Given the description of an element on the screen output the (x, y) to click on. 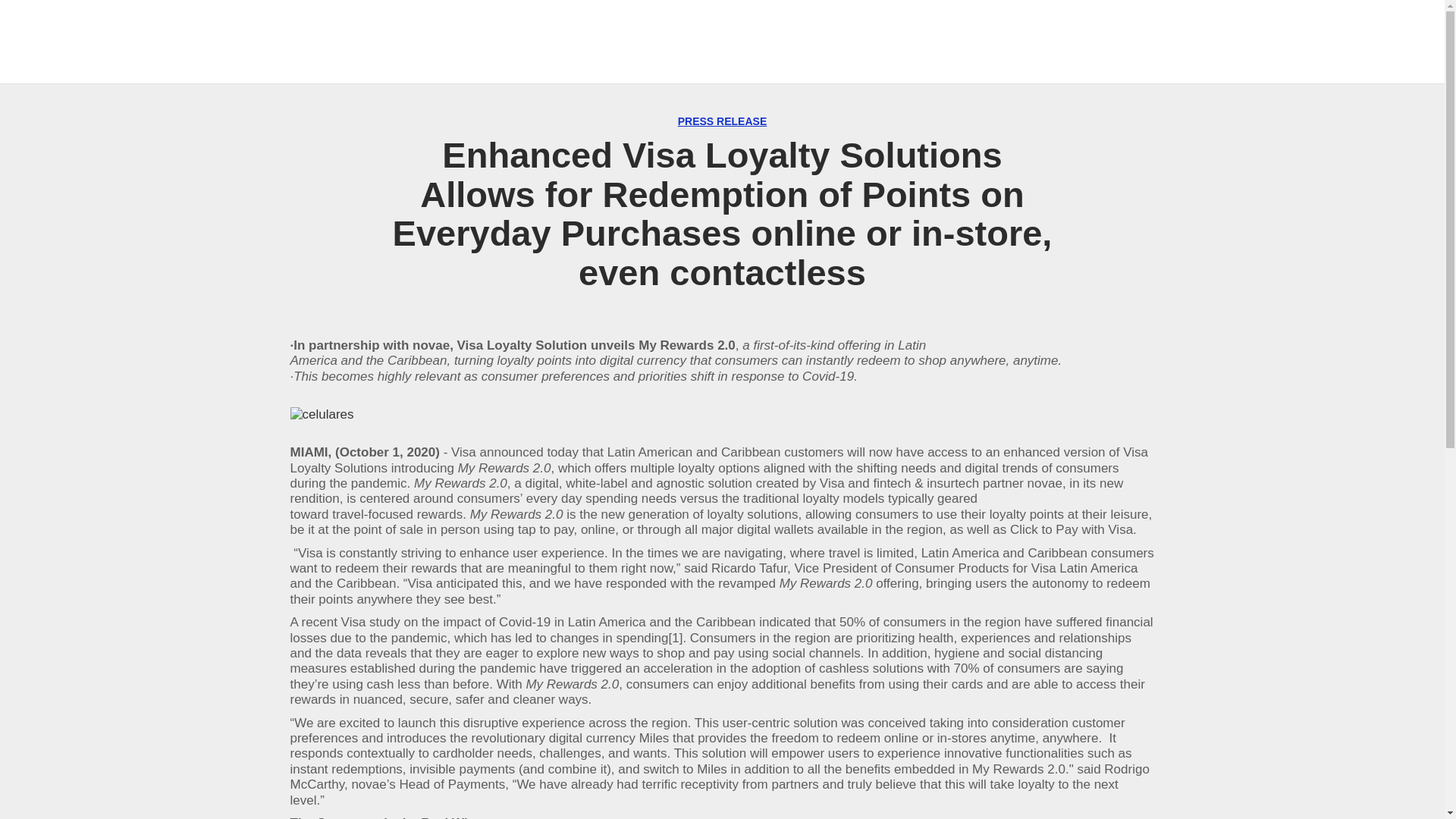
PRESS RELEASE (722, 120)
